Given the description of an element on the screen output the (x, y) to click on. 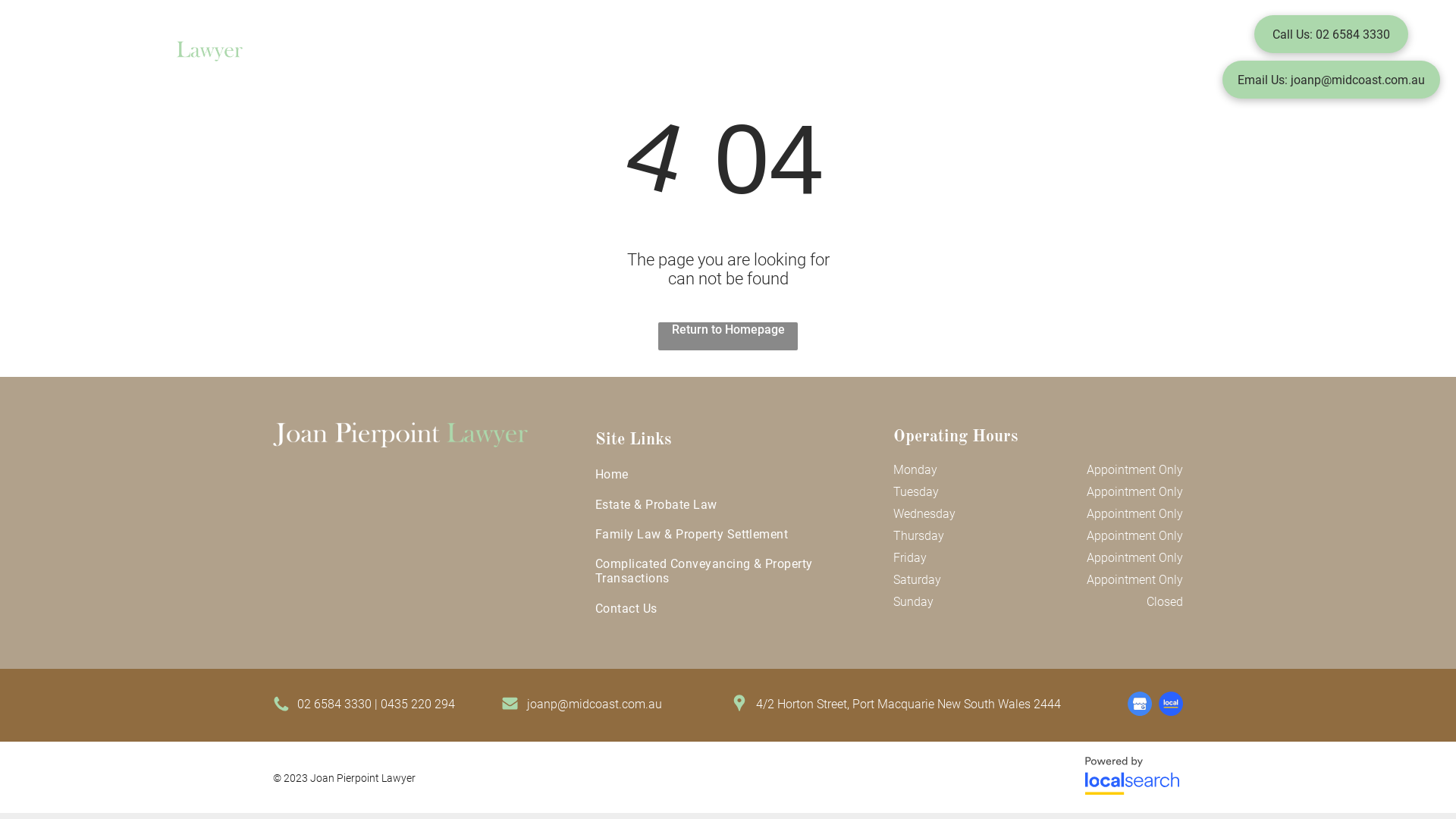
Address Icon Element type: hover (739, 702)
0435 220 294 Element type: text (417, 703)
Contact Us Element type: text (1087, 52)
business.localsearch.com.au Element type: hover (1132, 775)
joanp@midcoast.com.au Element type: text (594, 703)
02 6584 3330 Element type: text (334, 703)
Phone Icon Element type: hover (281, 704)
www.localsearch.com.au Element type: hover (1170, 703)
Estate & Probate Law Element type: text (733, 503)
Call Us: 02 6584 3330 Element type: text (1331, 34)
Contact Us Element type: text (733, 607)
Complicated Conveyancing & Property Transactions Element type: text (733, 571)
Find Us On GMB Element type: hover (1139, 703)
Home Element type: text (354, 52)
Return to Homepage Element type: text (727, 336)
Family Law & Property Settlement Element type: text (626, 52)
Complicated Conveyancing & Property Transactions Element type: text (890, 52)
Email Icon Element type: hover (509, 702)
Estate & Probate Law Element type: text (450, 52)
Email Us: joanp@midcoast.com.au Element type: text (1331, 79)
4/2 Horton Street, Port Macquarie New South Wales 2444 Element type: text (908, 703)
Home Element type: text (733, 474)
Family Law & Property Settlement Element type: text (733, 534)
